Given the description of an element on the screen output the (x, y) to click on. 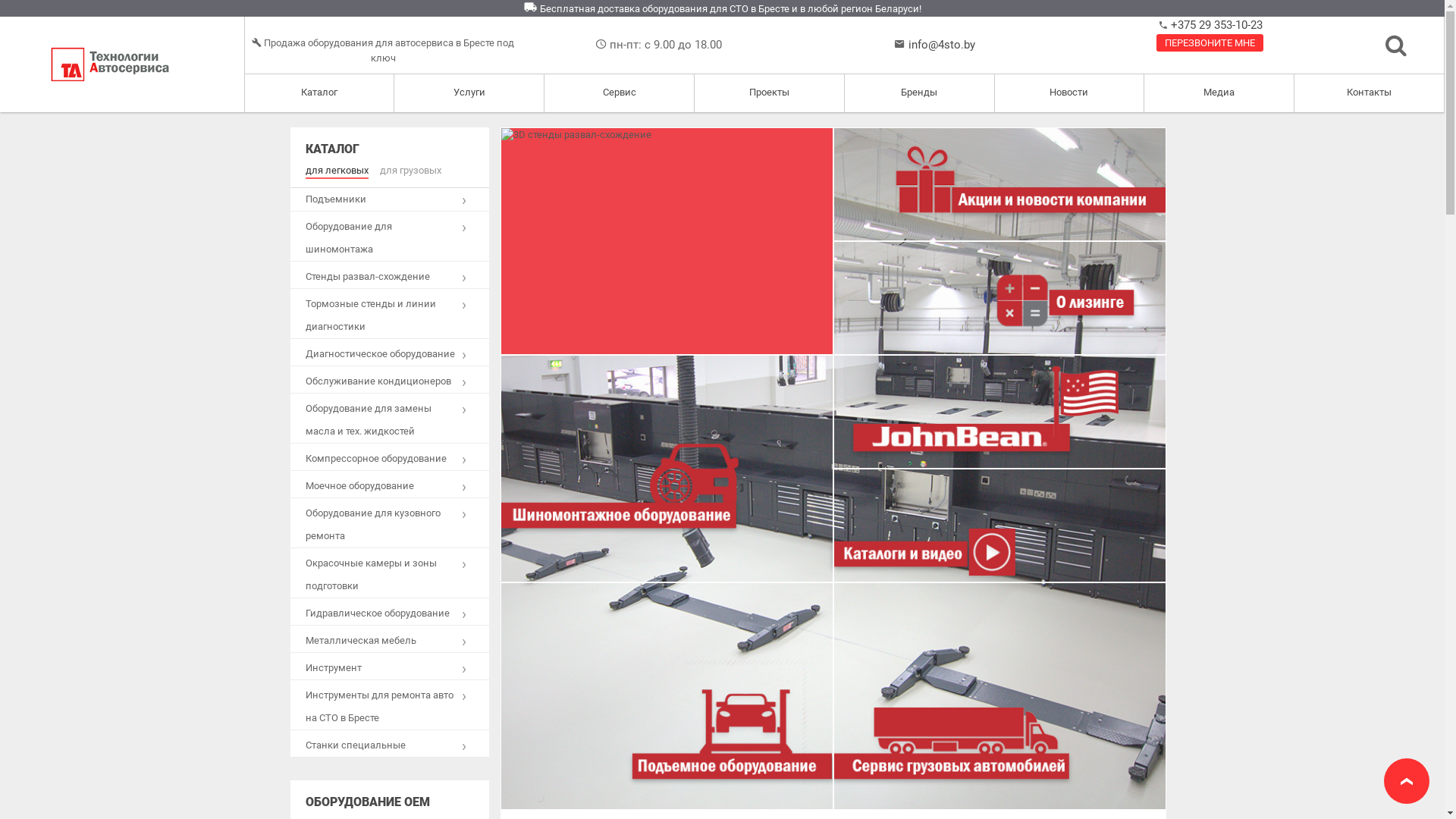
info@4sto.by Element type: text (941, 44)
+375 29 353-10-23 Element type: text (1214, 24)
